Given the description of an element on the screen output the (x, y) to click on. 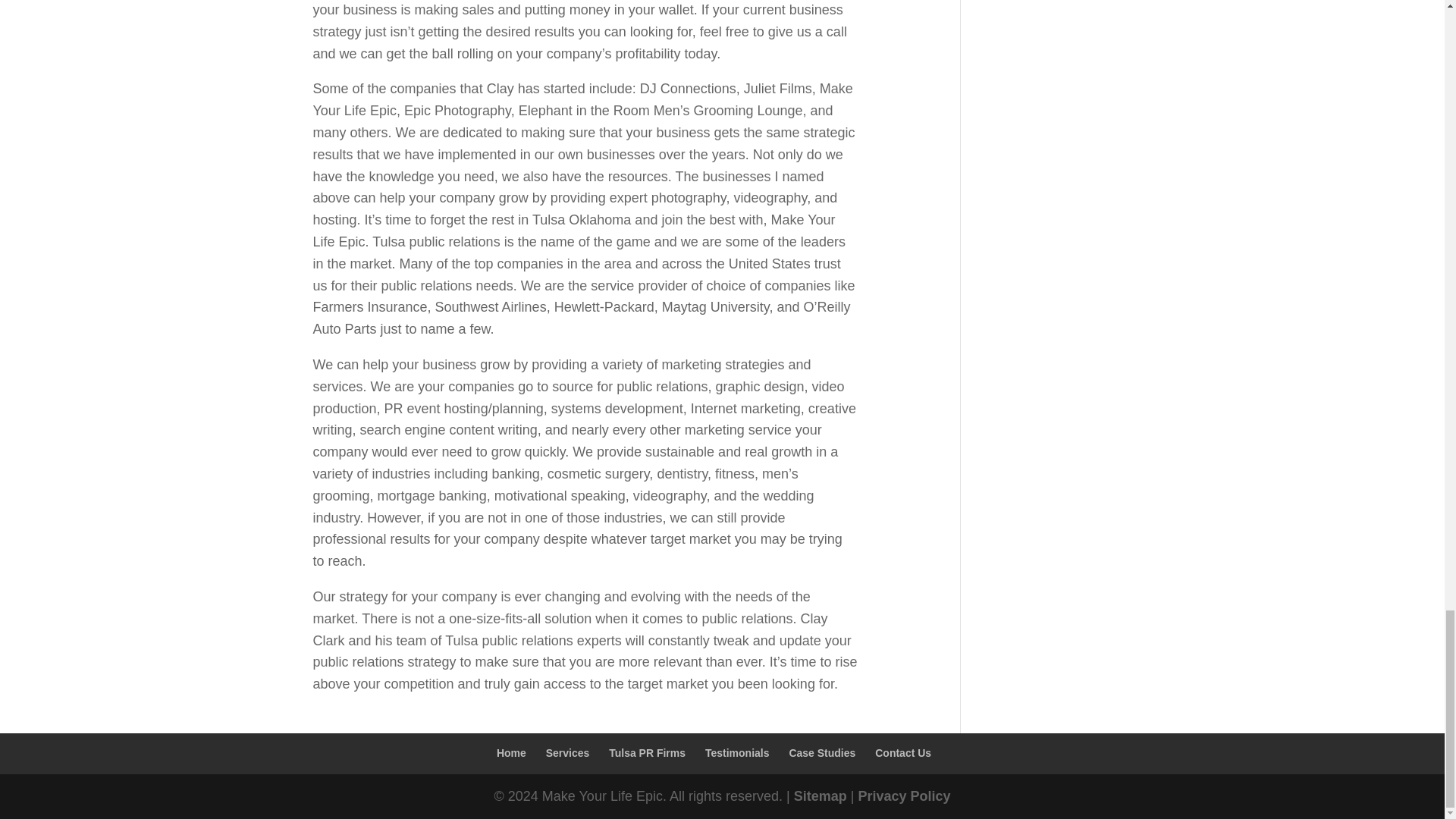
Case Studies (822, 752)
Contact Us (903, 752)
Testimonials (737, 752)
Sitemap (820, 795)
Privacy Policy (903, 795)
Services (567, 752)
Home (510, 752)
Tulsa PR Firms (646, 752)
